Given the description of an element on the screen output the (x, y) to click on. 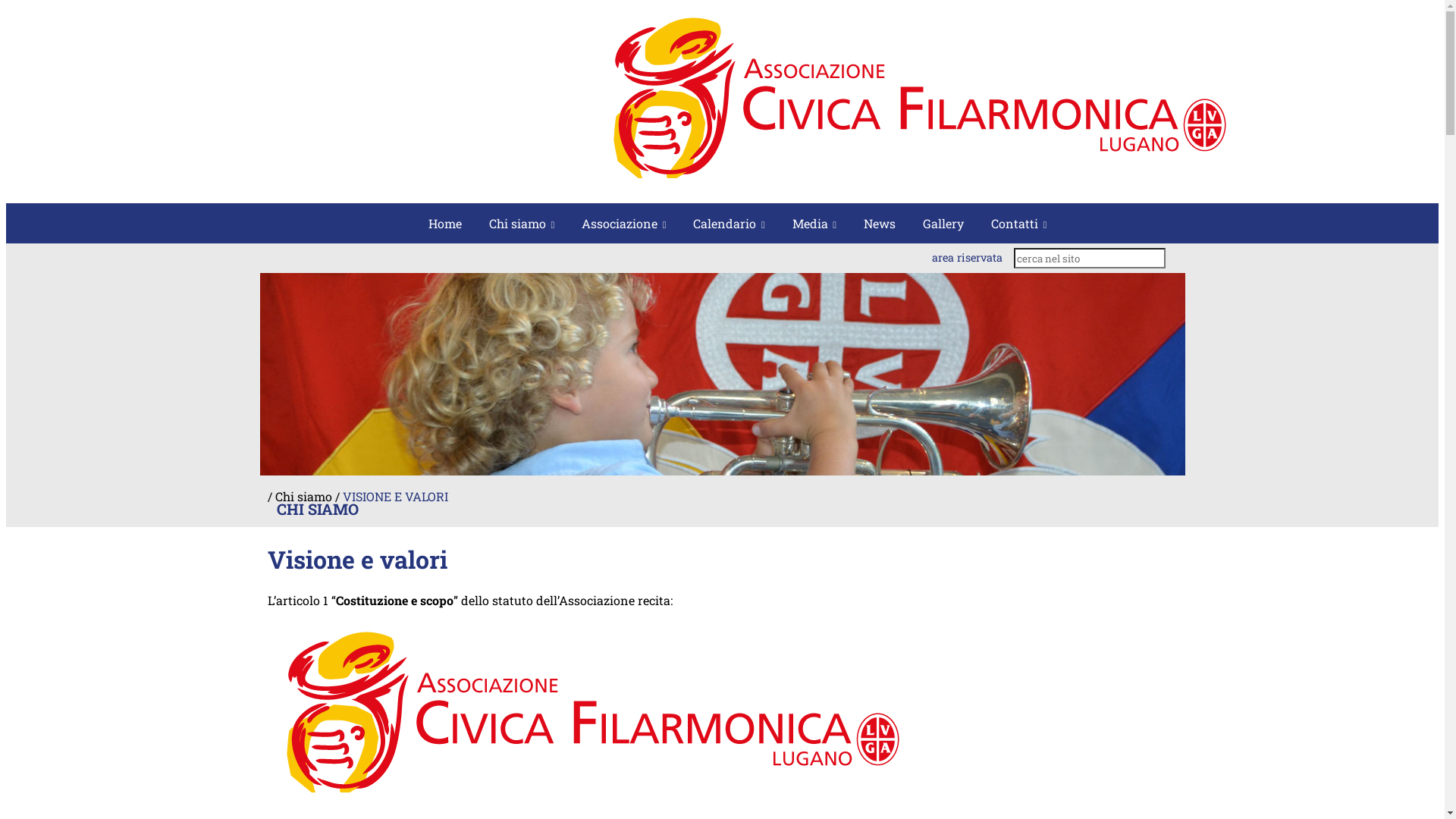
Gallery Element type: text (942, 223)
Home Element type: text (444, 223)
News Element type: text (879, 223)
area riservata Element type: text (966, 257)
VISIONE E VALORI Element type: text (395, 496)
Associazione Element type: text (623, 223)
Contatti Element type: text (1018, 223)
Calendario Element type: text (728, 223)
Chi siamo Element type: text (521, 223)
Media Element type: text (814, 223)
